Given the description of an element on the screen output the (x, y) to click on. 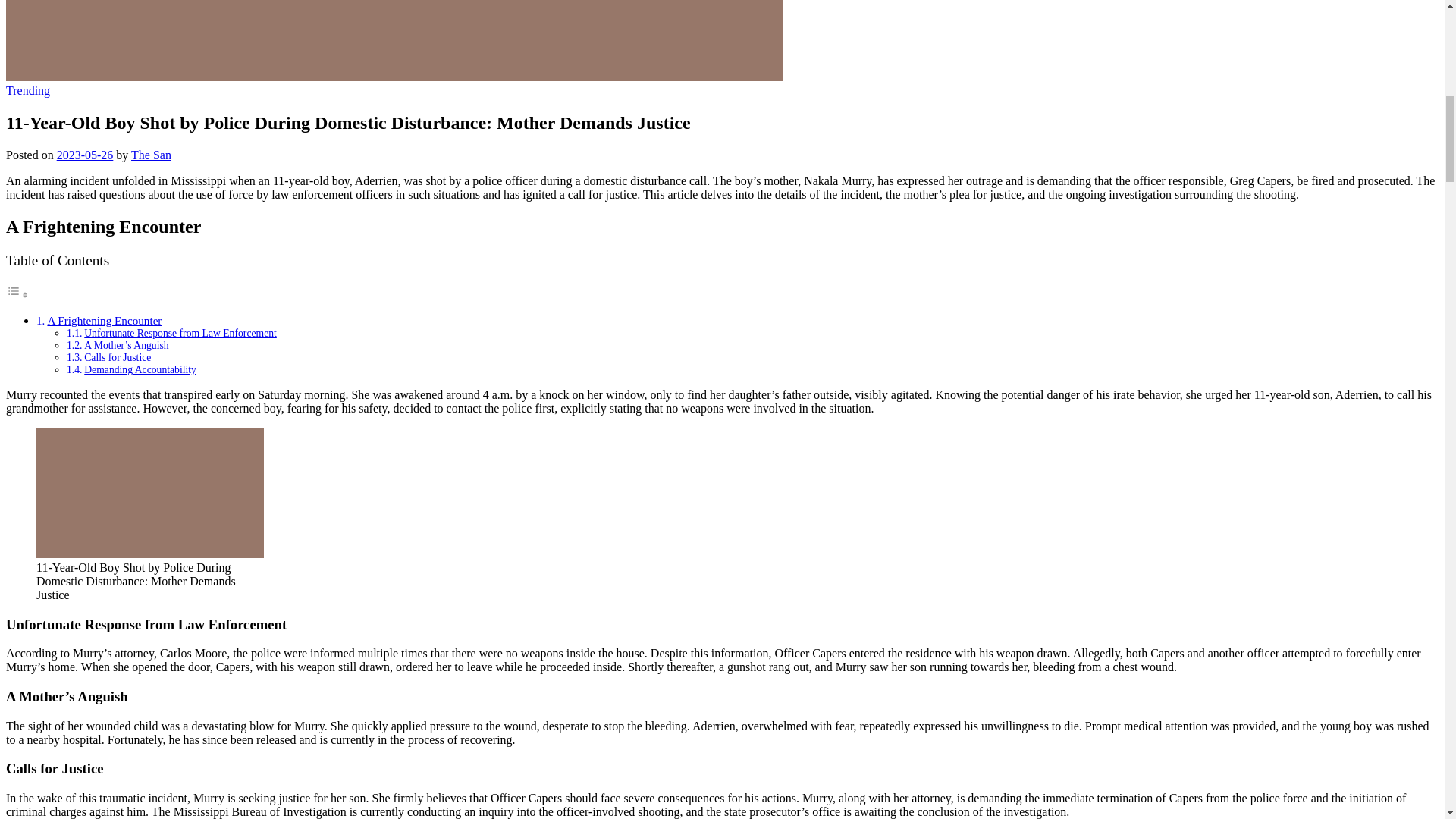
Demanding Accountability (140, 369)
2023-05-26 (84, 154)
Unfortunate Response from Law Enforcement (180, 333)
Unfortunate Response from Law Enforcement (180, 333)
A Frightening Encounter (103, 319)
Trending (27, 90)
Demanding Accountability (140, 369)
Calls for Justice (117, 357)
A Frightening Encounter (103, 319)
Calls for Justice (117, 357)
